Given the description of an element on the screen output the (x, y) to click on. 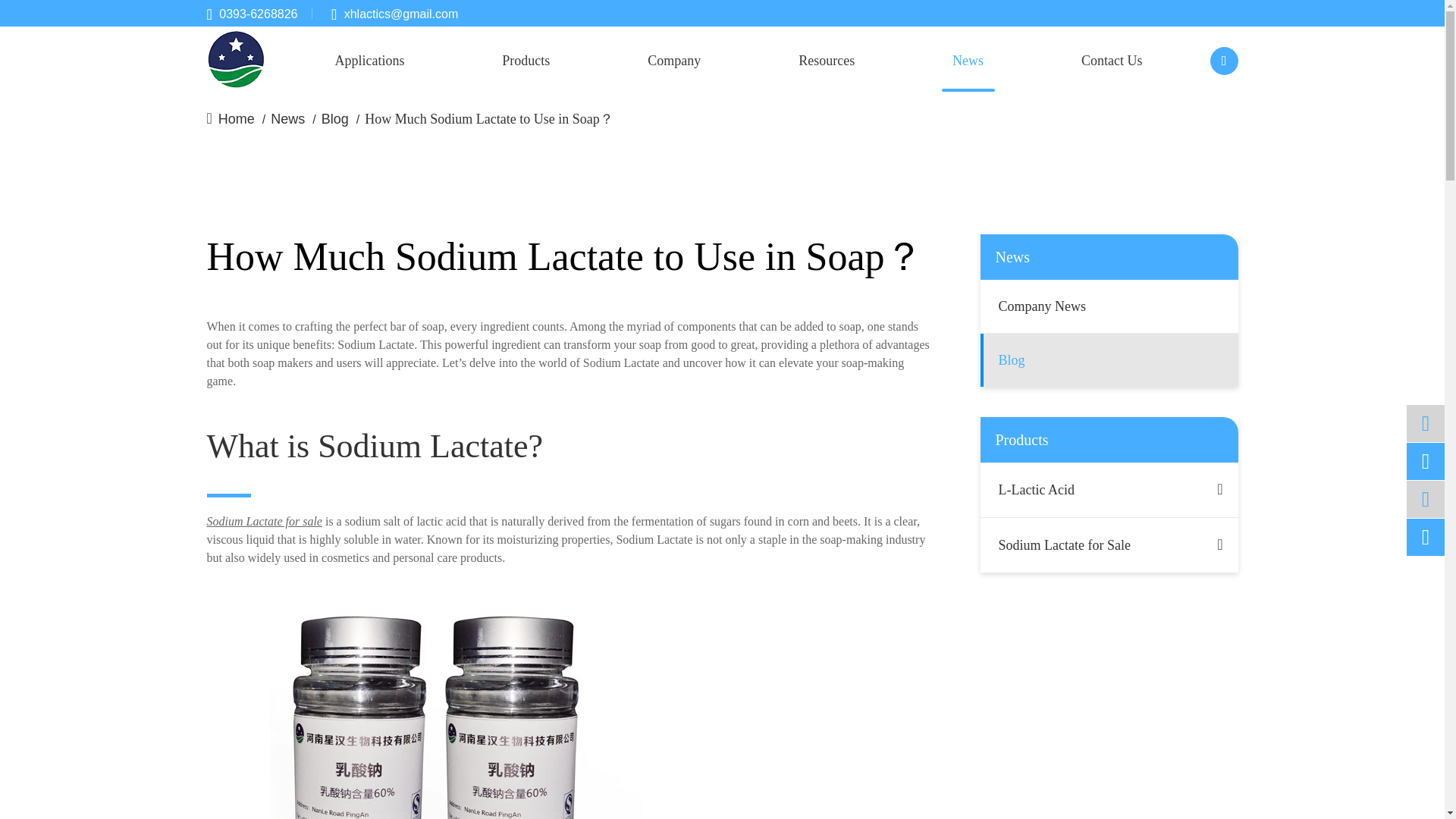
lactic acid soap benefits (433, 702)
Blog (335, 122)
Products (526, 60)
Applications (369, 60)
News (287, 122)
Henan Xinghan Biotechnology Co.,Ltd. (234, 60)
